Given the description of an element on the screen output the (x, y) to click on. 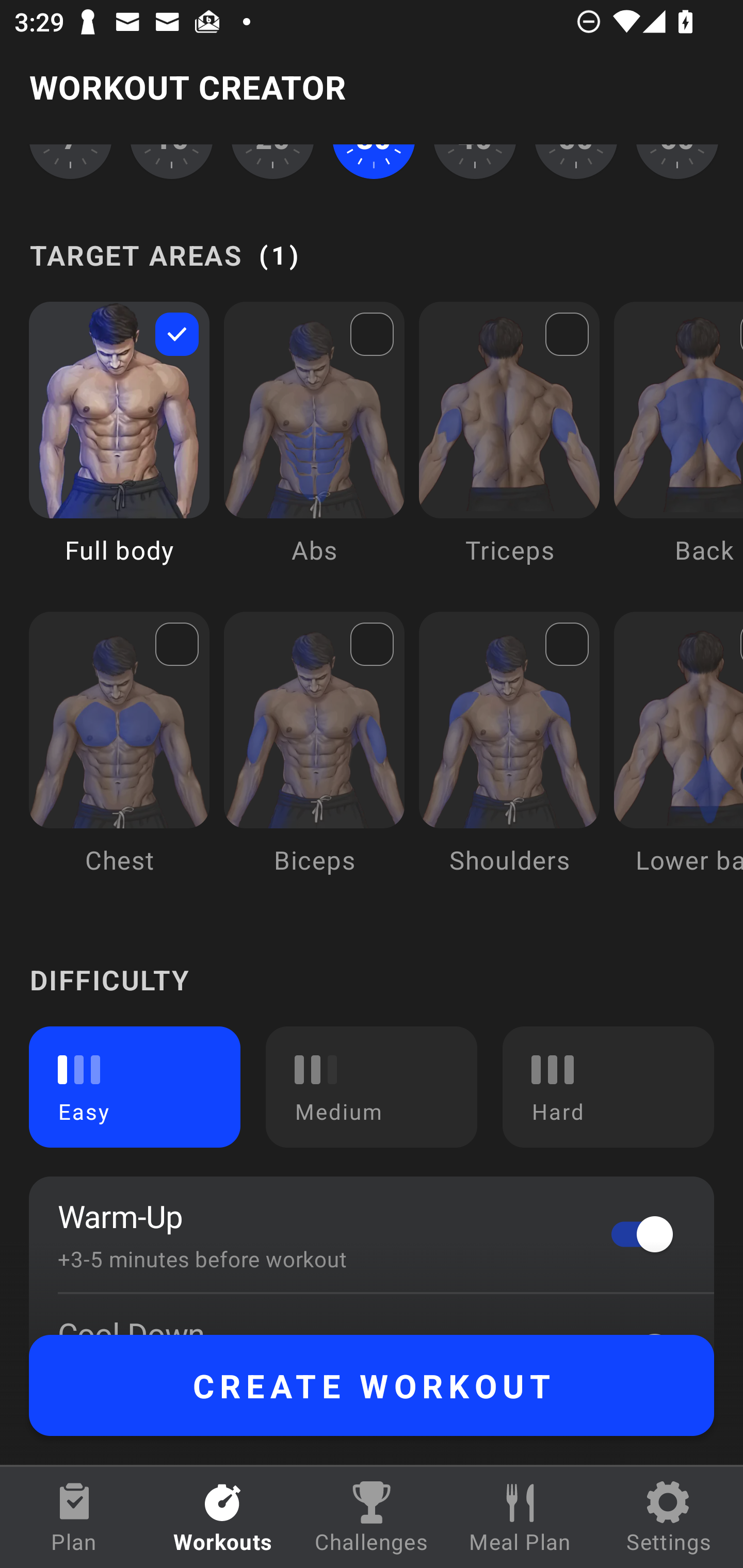
Abs (313, 447)
Triceps (509, 447)
Back (678, 447)
Chest (118, 757)
Biceps (313, 757)
Shoulders (509, 757)
Lower back (678, 757)
Medium (371, 1087)
Hard (608, 1087)
CREATE WORKOUT (371, 1385)
 Plan  (74, 1517)
 Challenges  (371, 1517)
 Meal Plan  (519, 1517)
 Settings  (668, 1517)
